Given the description of an element on the screen output the (x, y) to click on. 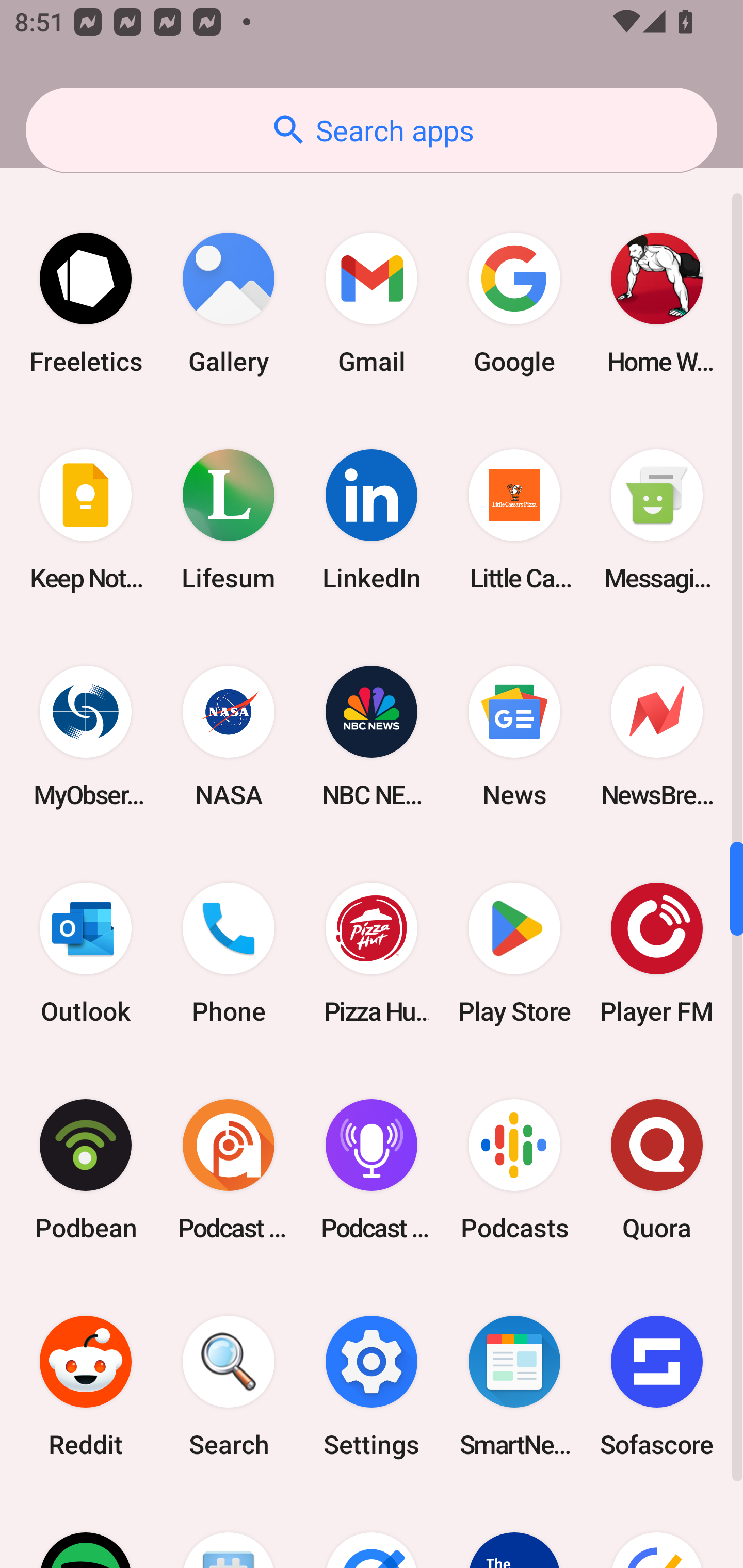
  Search apps (371, 130)
Freeletics (85, 302)
Gallery (228, 302)
Gmail (371, 302)
Google (514, 302)
Home Workout (656, 302)
Keep Notes (85, 519)
Lifesum (228, 519)
LinkedIn (371, 519)
Little Caesars Pizza (514, 519)
Messaging (656, 519)
MyObservatory (85, 736)
NASA (228, 736)
NBC NEWS (371, 736)
News (514, 736)
NewsBreak (656, 736)
Outlook (85, 953)
Phone (228, 953)
Pizza Hut HK & Macau (371, 953)
Play Store (514, 953)
Player FM (656, 953)
Podbean (85, 1169)
Podcast Addict (228, 1169)
Podcast Player (371, 1169)
Podcasts (514, 1169)
Quora (656, 1169)
Reddit (85, 1385)
Search (228, 1385)
Settings (371, 1385)
SmartNews (514, 1385)
Sofascore (656, 1385)
